Given the description of an element on the screen output the (x, y) to click on. 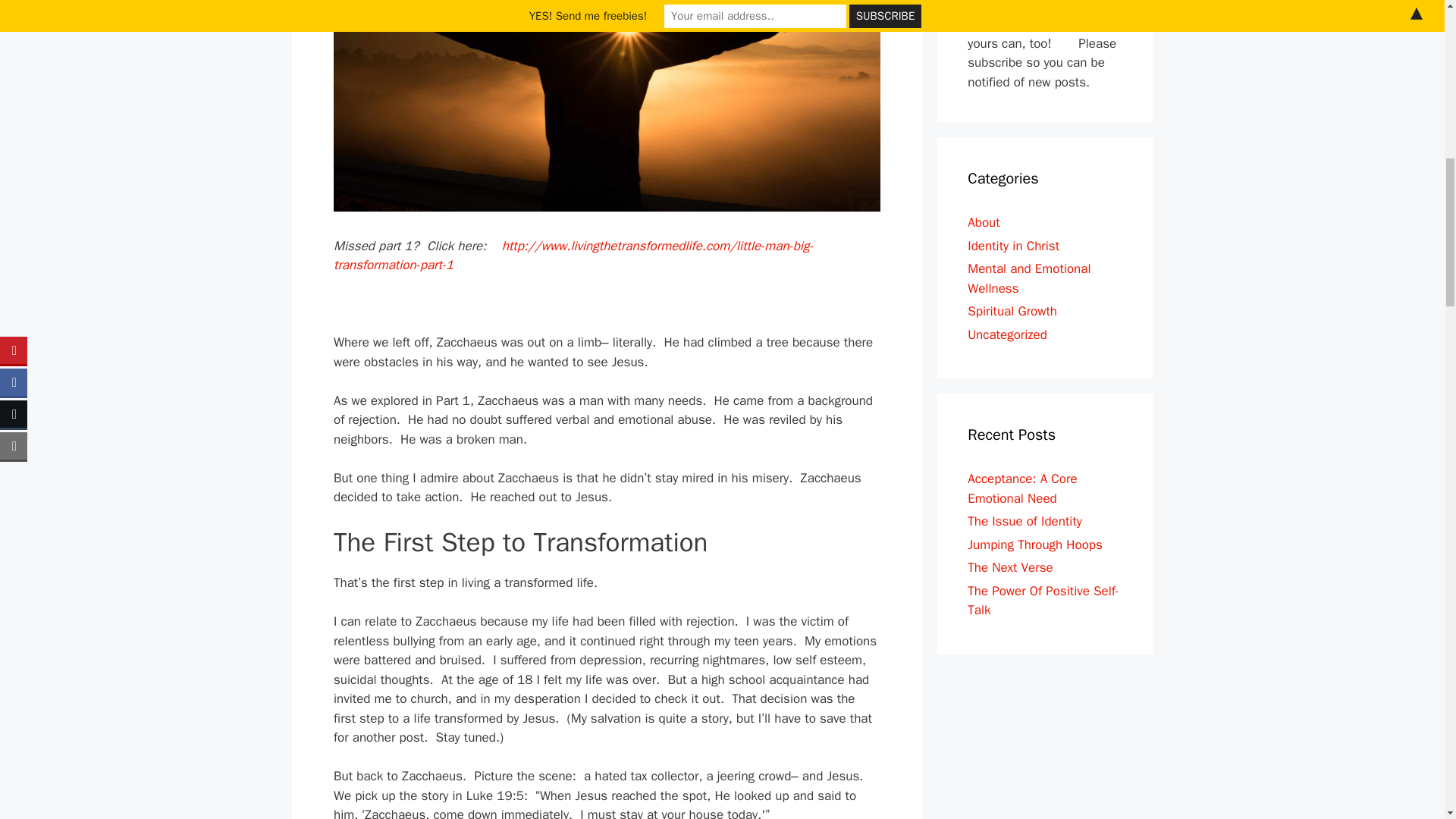
About (983, 222)
Identity in Christ (1013, 245)
Spiritual Growth (1012, 311)
Mental and Emotional Wellness (1029, 278)
The Issue of Identity (1024, 521)
Acceptance: A Core Emotional Need (1022, 488)
Uncategorized (1007, 334)
